Given the description of an element on the screen output the (x, y) to click on. 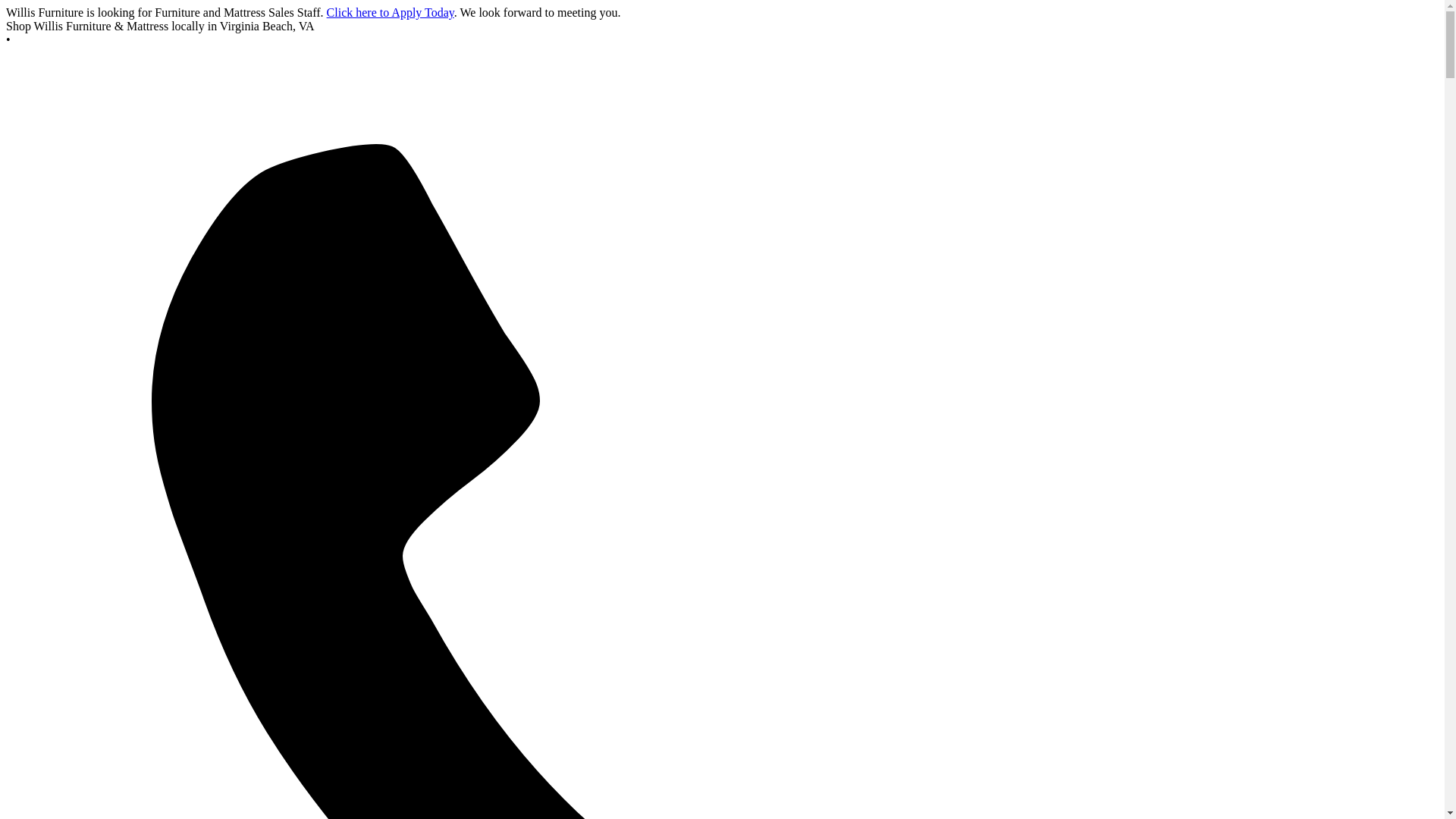
Click here to Apply Today (390, 11)
